Given the description of an element on the screen output the (x, y) to click on. 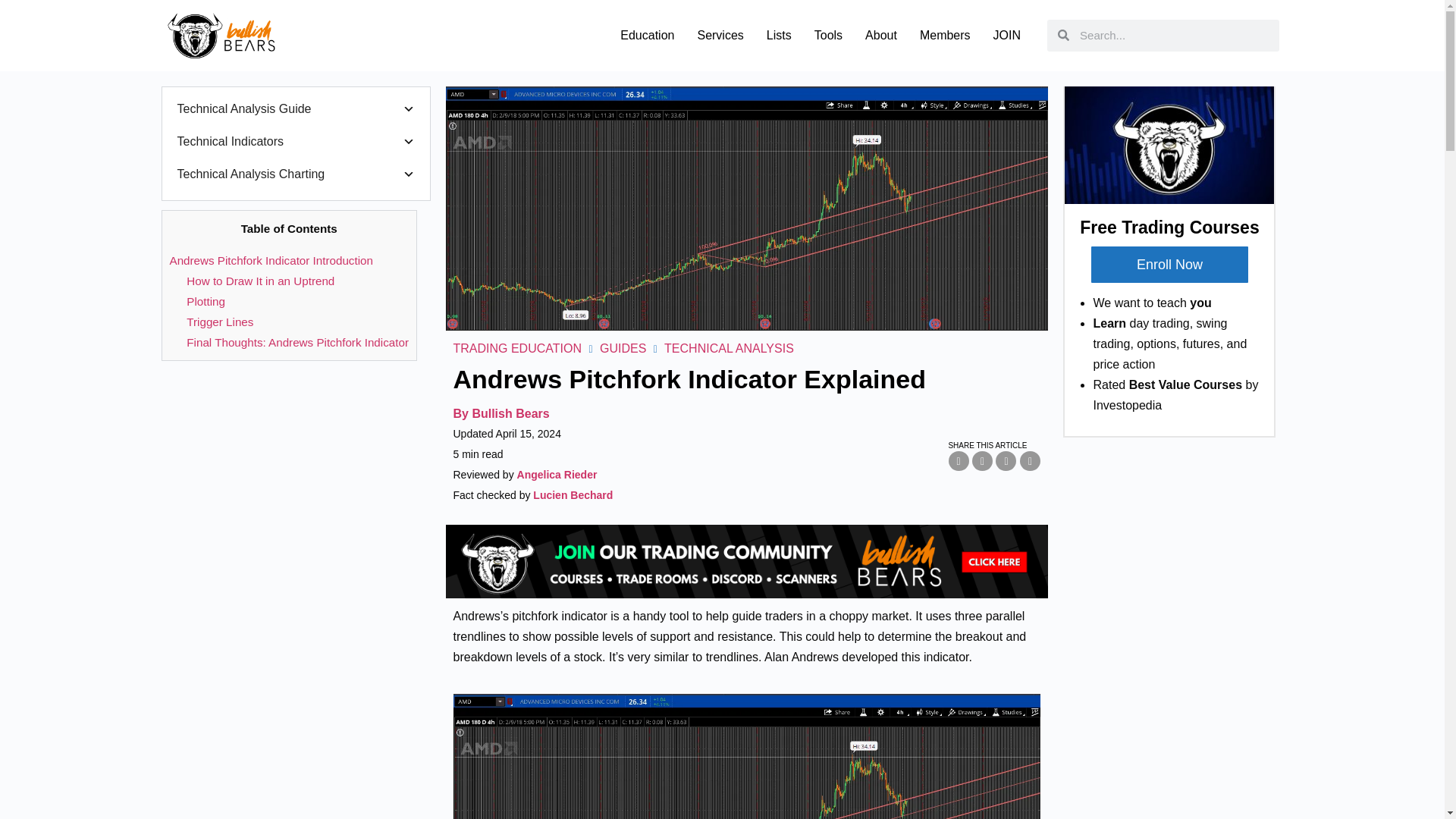
Education (646, 35)
Tools (828, 35)
Lists (779, 35)
Services (719, 35)
